Given the description of an element on the screen output the (x, y) to click on. 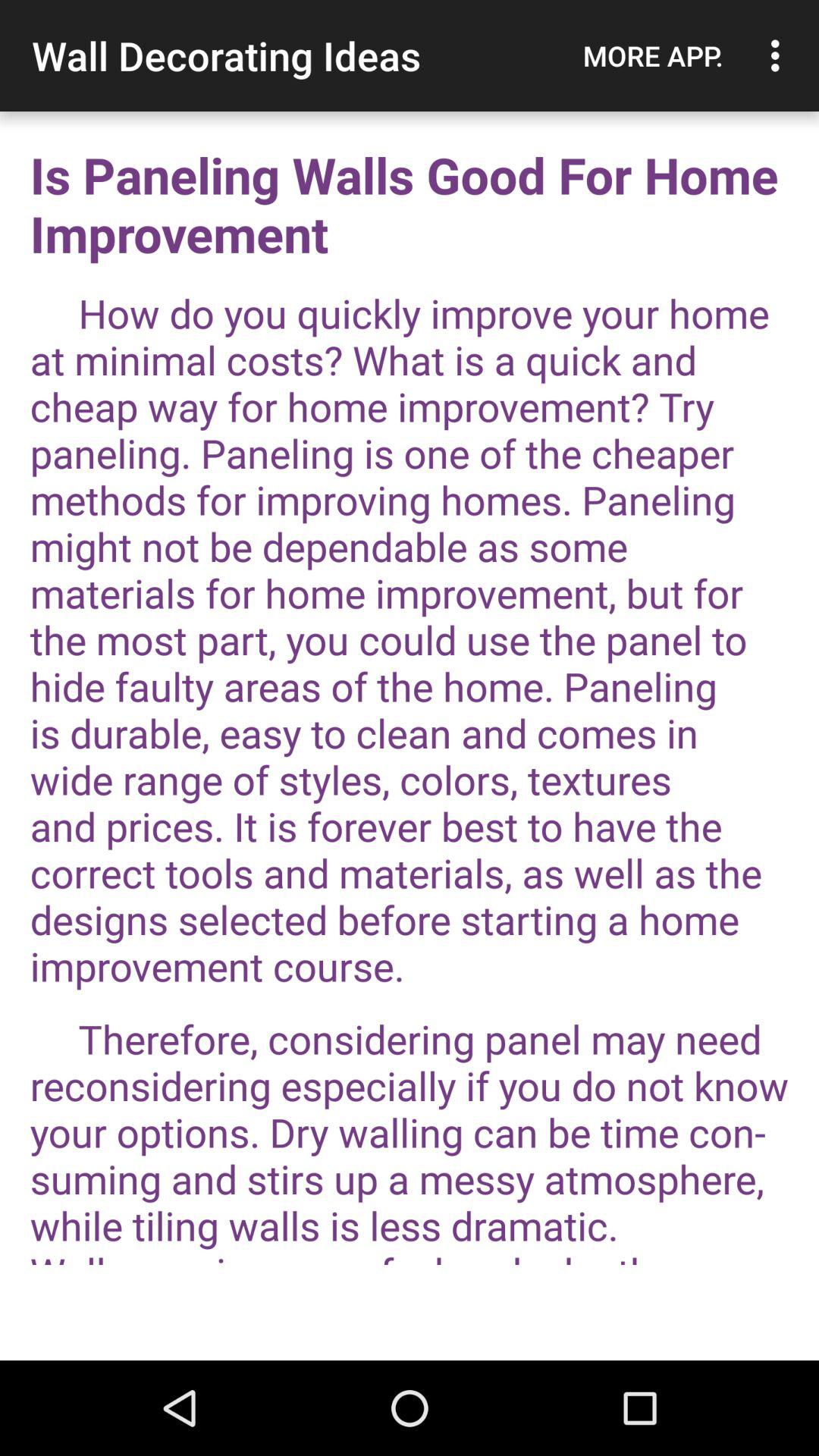
press the item next to the wall decorating ideas item (653, 55)
